Given the description of an element on the screen output the (x, y) to click on. 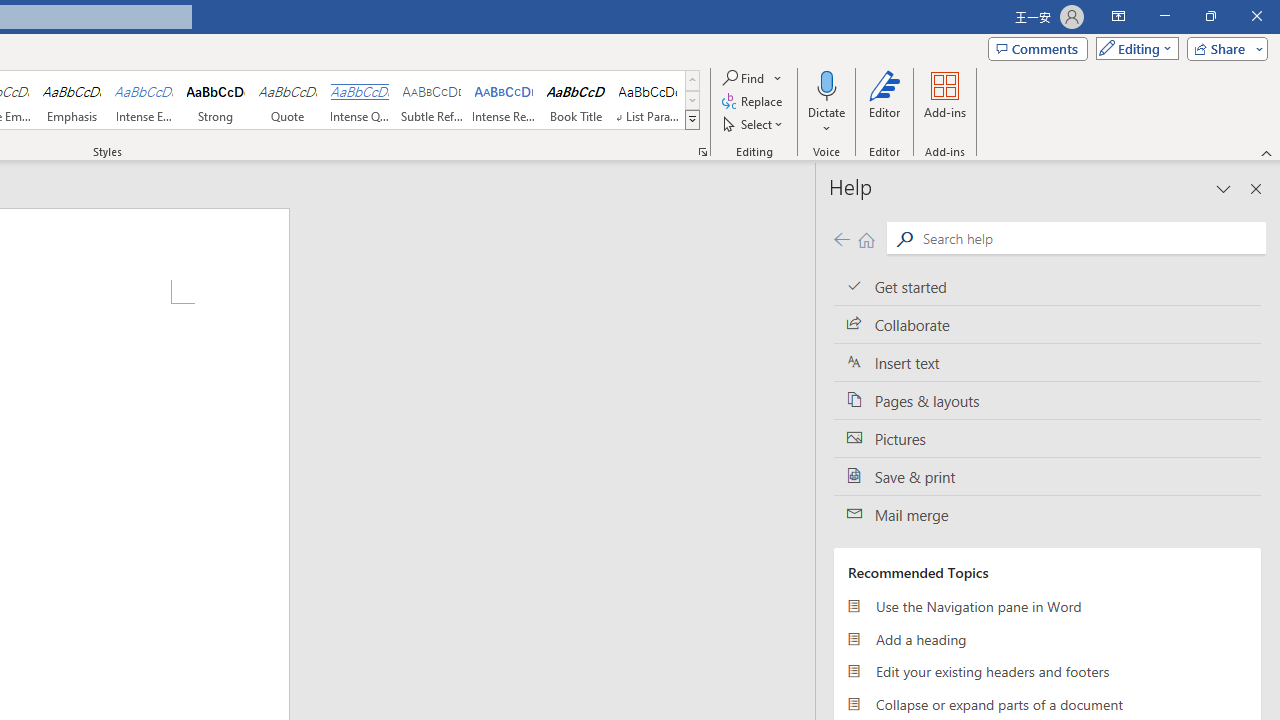
Styles (692, 120)
Replace... (753, 101)
Save & print (1047, 476)
Row up (692, 79)
Book Title (575, 100)
Row Down (692, 100)
Collapse the Ribbon (1267, 152)
Get started (1047, 286)
Strong (216, 100)
